Given the description of an element on the screen output the (x, y) to click on. 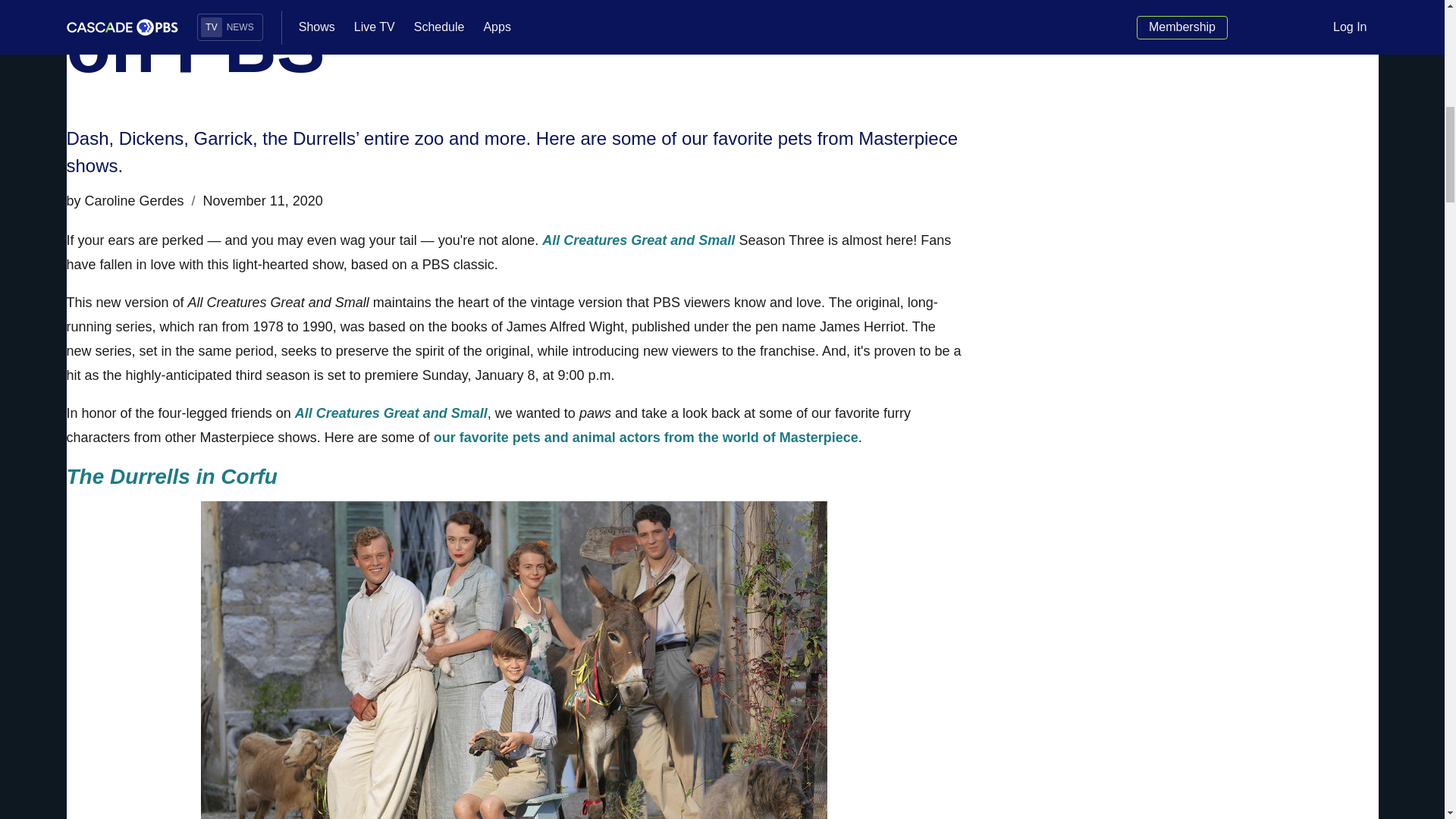
3rd party ad content (1210, 32)
